Given the description of an element on the screen output the (x, y) to click on. 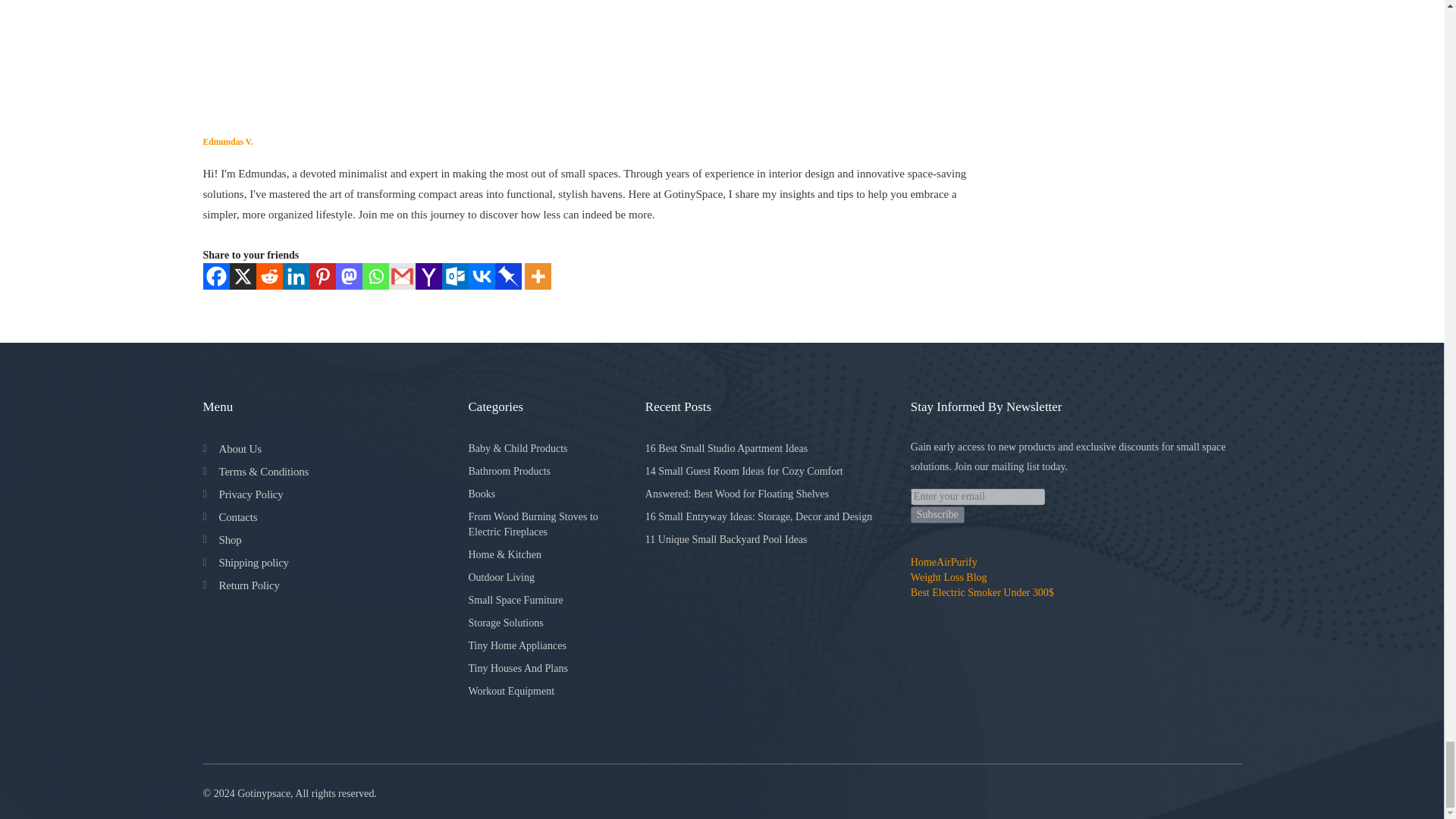
Facebook (216, 275)
Linkedin (295, 275)
Subscribe (937, 514)
Reddit (269, 275)
Mastodon (347, 275)
Pinterest (322, 275)
X (242, 275)
Whatsapp (375, 275)
